Given the description of an element on the screen output the (x, y) to click on. 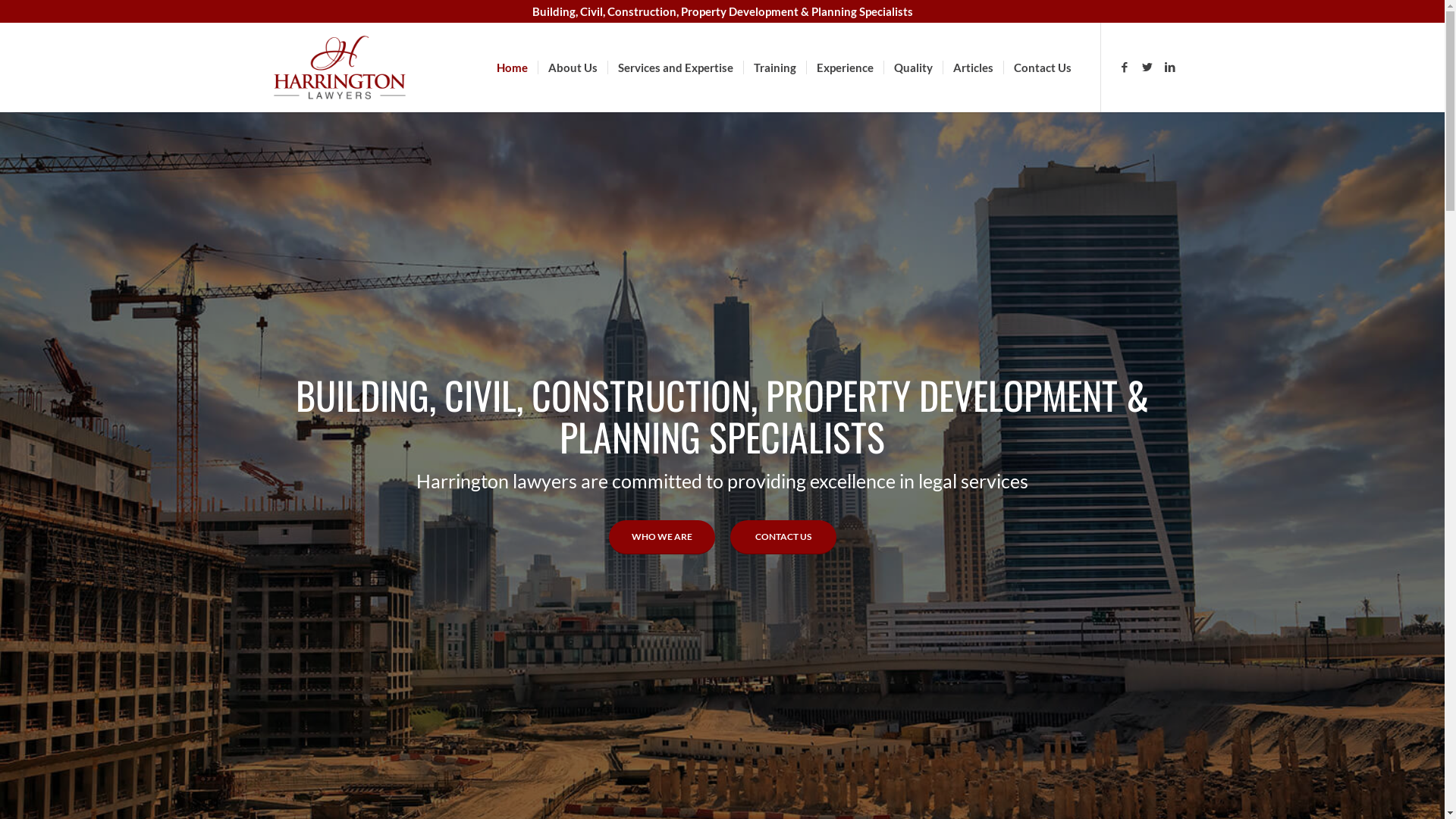
Facebook Element type: hover (1124, 66)
CONTACT US Element type: text (782, 537)
Articles Element type: text (971, 67)
Training Element type: text (774, 67)
Experience Element type: text (843, 67)
WHO WE ARE Element type: text (661, 537)
Services and Expertise Element type: text (674, 67)
Twitter Element type: hover (1146, 66)
LinkedIn Element type: hover (1169, 66)
Quality Element type: text (911, 67)
About Us Element type: text (571, 67)
Home Element type: text (511, 67)
Contact Us Element type: text (1041, 67)
